Given the description of an element on the screen output the (x, y) to click on. 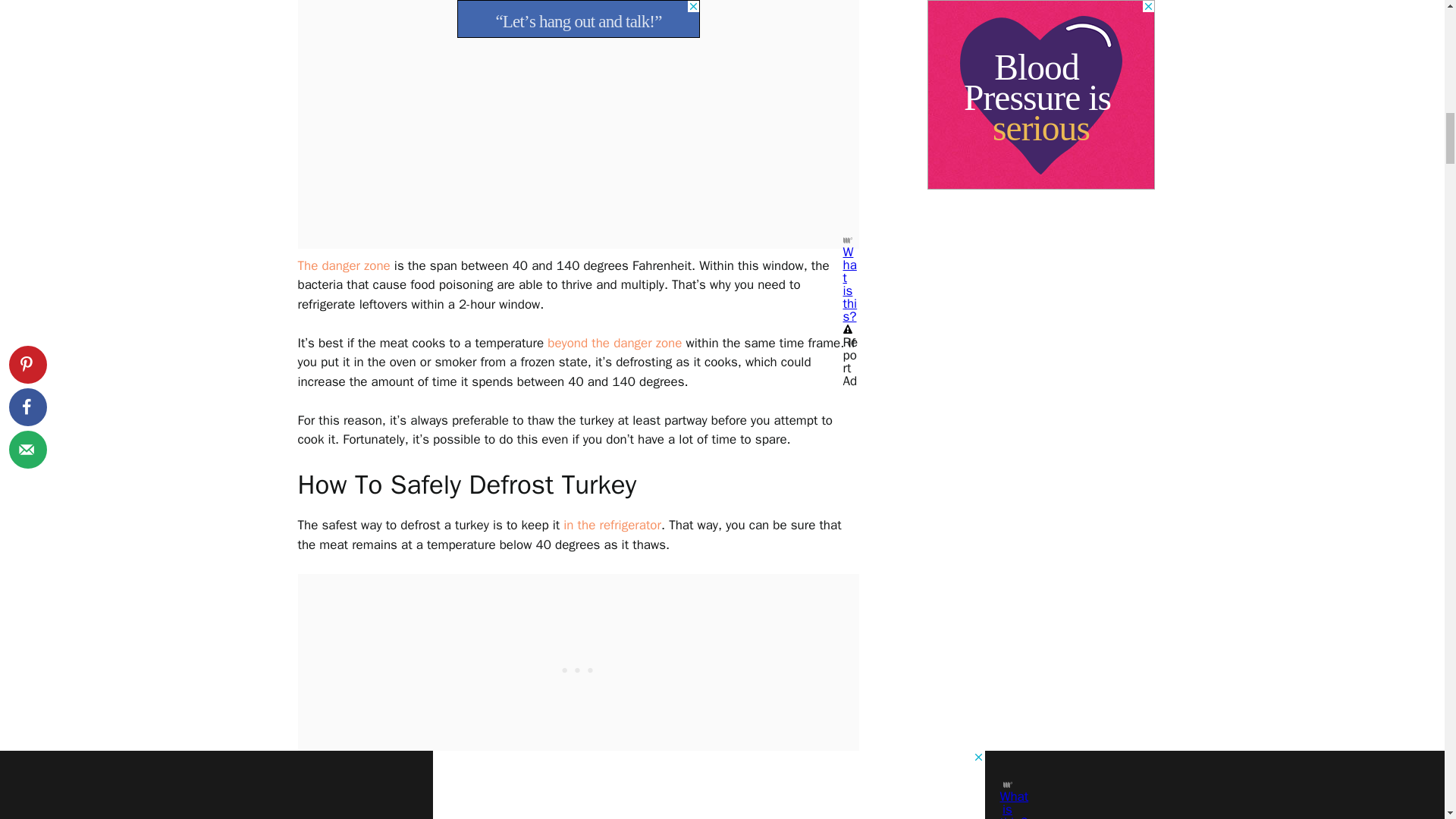
3rd party ad content (577, 668)
